Given the description of an element on the screen output the (x, y) to click on. 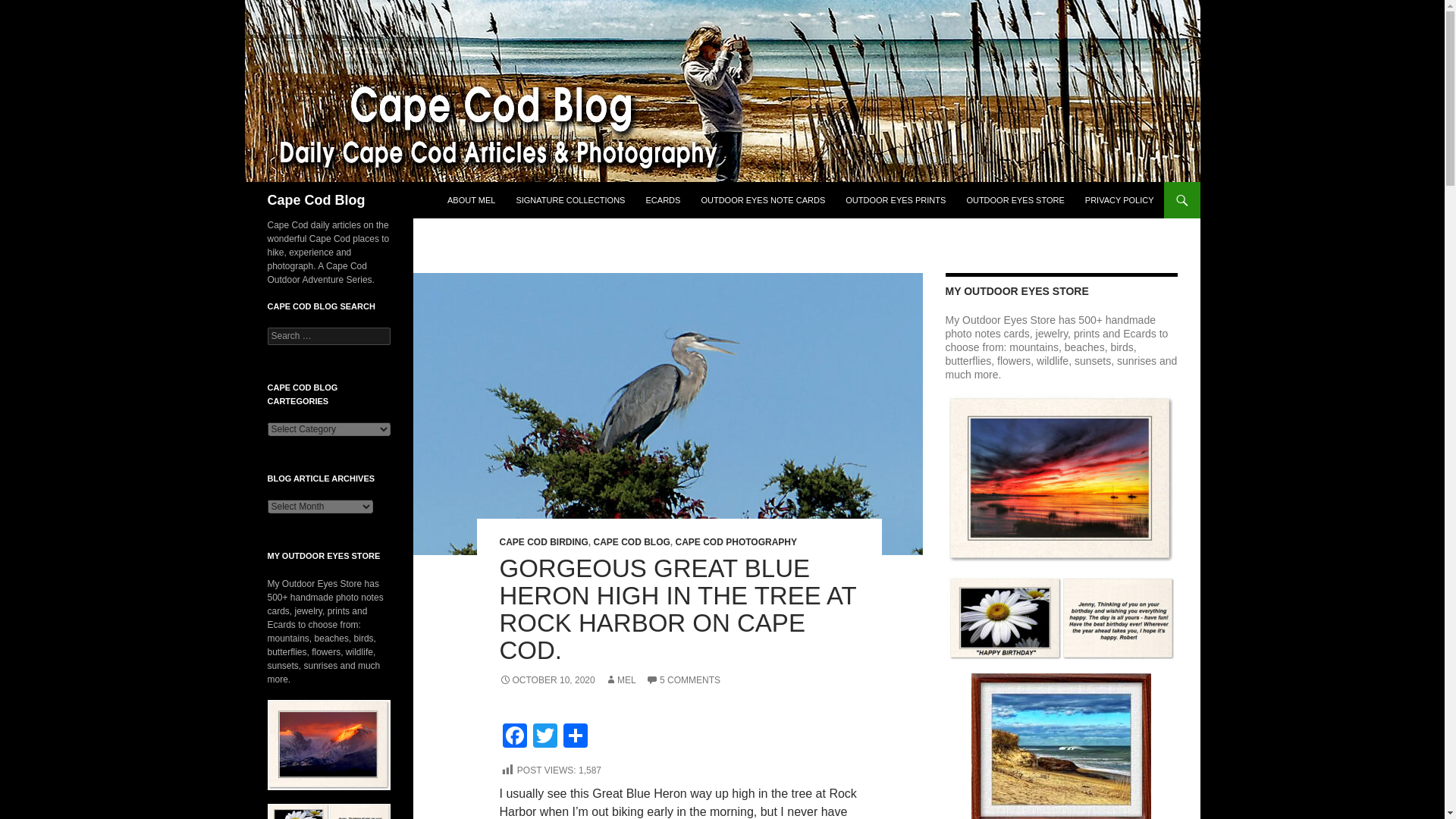
Twitter (544, 737)
OUTDOOR EYES NOTE CARDS (762, 199)
OUTDOOR EYES PRINTS (895, 199)
Facebook (514, 737)
5 COMMENTS (683, 679)
PRIVACY POLICY (1119, 199)
OUTDOOR EYES STORE (1014, 199)
MEL (620, 679)
CAPE COD BLOG (631, 542)
ABOUT MEL (470, 199)
ECARDS (663, 199)
Twitter (544, 737)
CAPE COD PHOTOGRAPHY (735, 542)
Cape Cod Blog (315, 199)
